Given the description of an element on the screen output the (x, y) to click on. 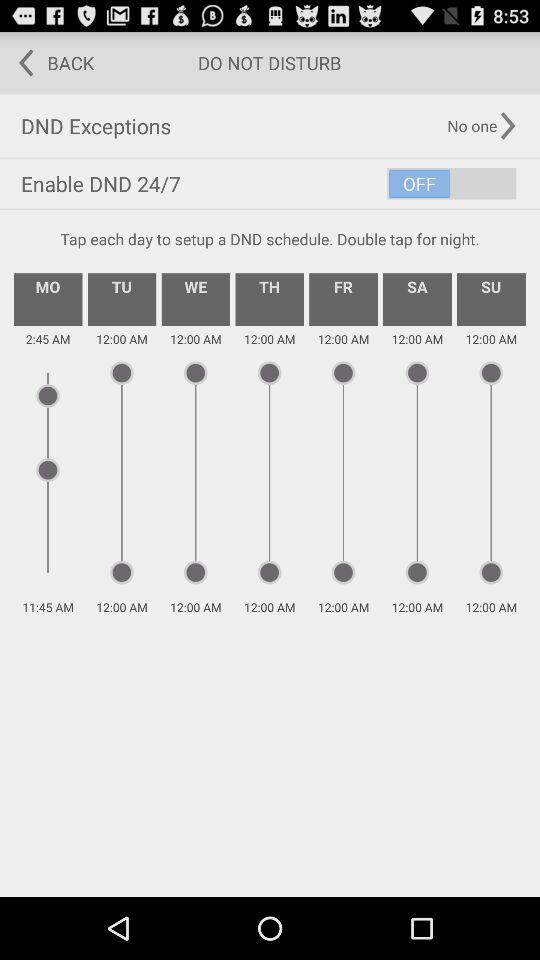
select item next to 12:00 am item (343, 299)
